Given the description of an element on the screen output the (x, y) to click on. 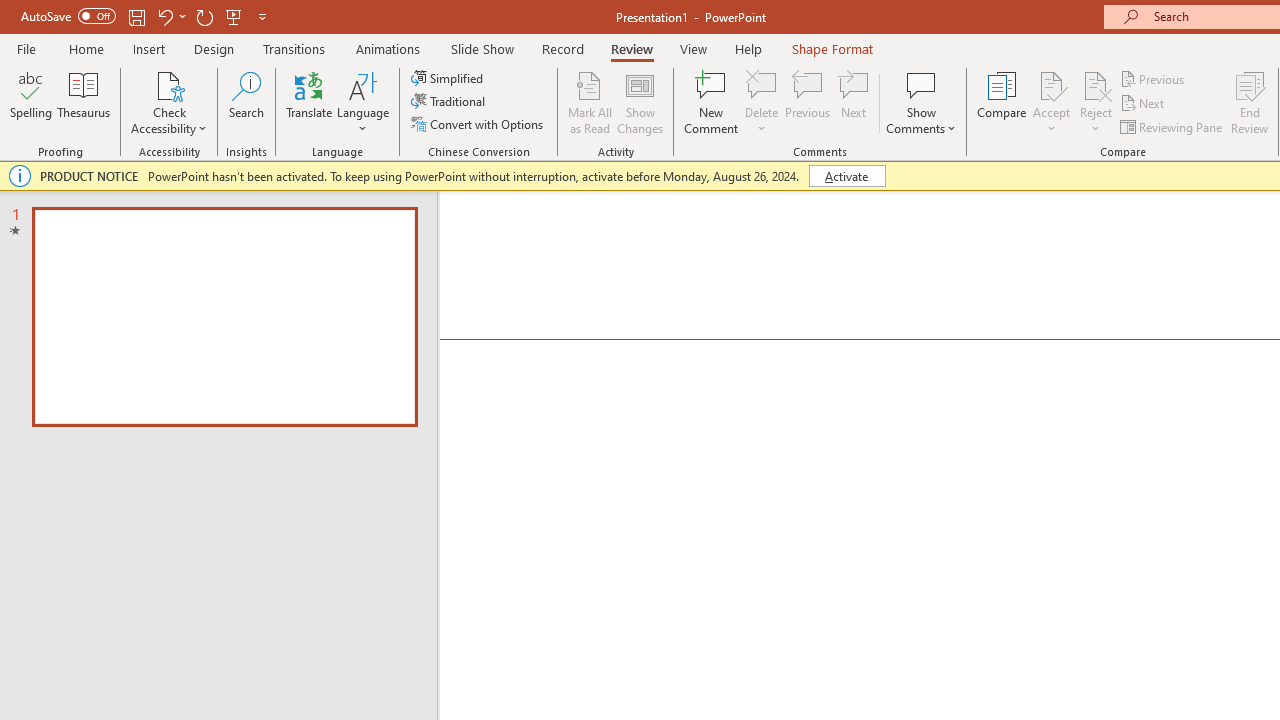
New Comment (711, 102)
Simplified (449, 78)
End Review (1249, 102)
Accept Change (1051, 84)
